Given the description of an element on the screen output the (x, y) to click on. 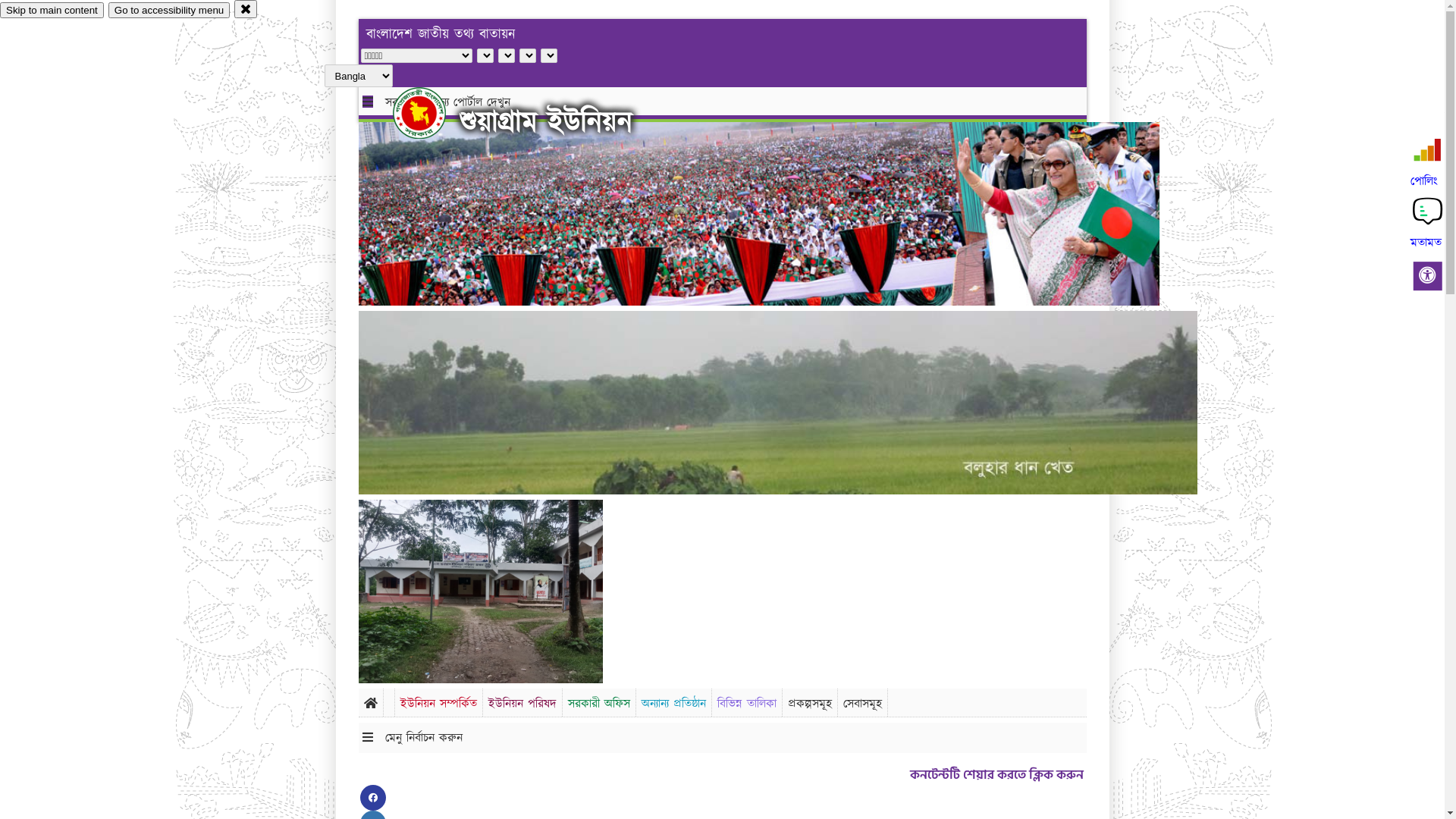
Go to accessibility menu Element type: text (168, 10)
Skip to main content Element type: text (51, 10)

                
             Element type: hover (431, 112)
close Element type: hover (245, 9)
